Given the description of an element on the screen output the (x, y) to click on. 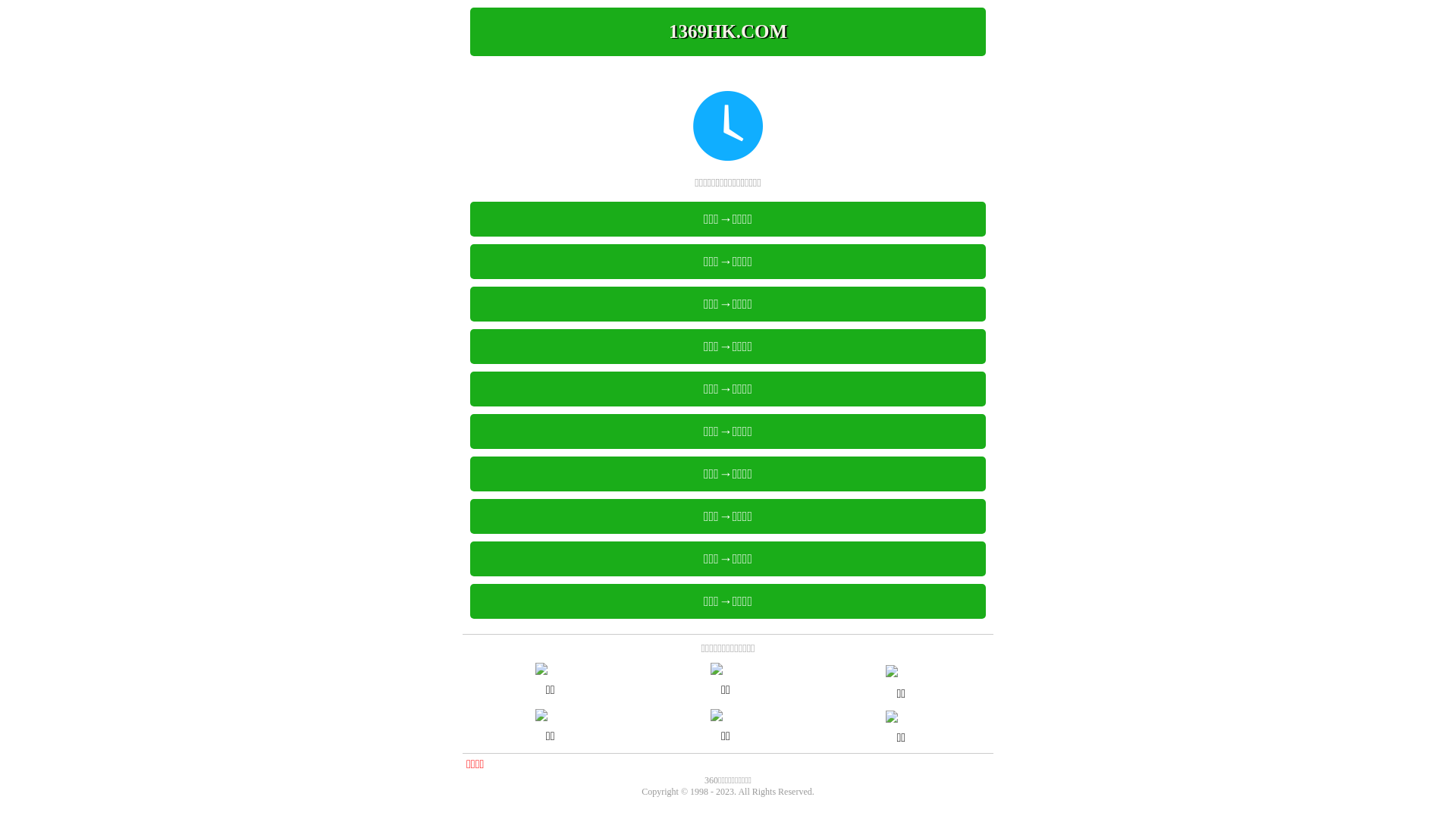
1369HK.COM Element type: text (727, 31)
